Given the description of an element on the screen output the (x, y) to click on. 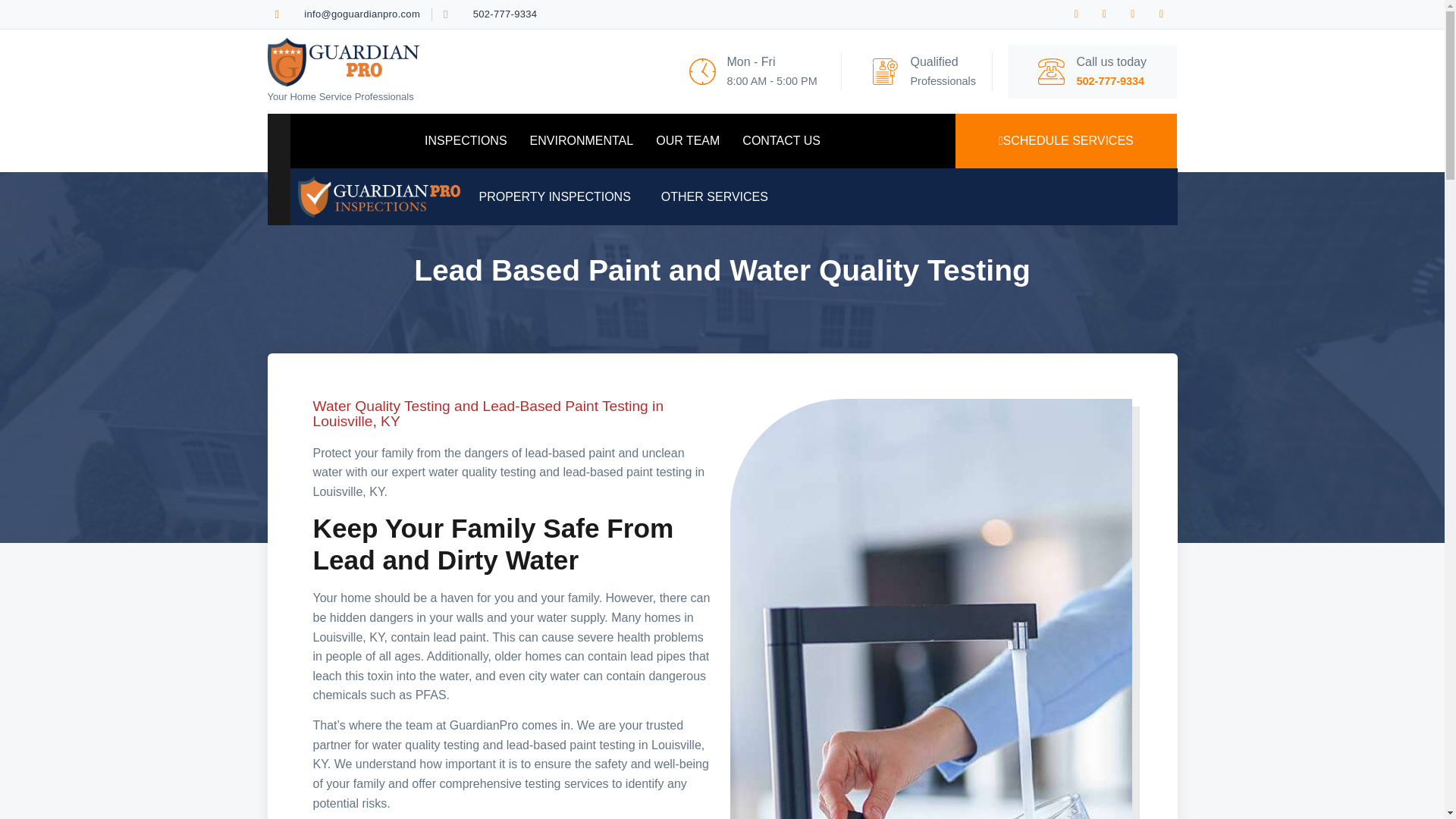
Qualified (934, 61)
PROPERTY INSPECTIONS (558, 196)
ENVIRONMENTAL (581, 140)
OTHER SERVICES (718, 196)
OUR TEAM (687, 140)
Mon - Fri (750, 61)
502-777-9334 (490, 14)
SCHEDULE SERVICES (1065, 140)
INSPECTIONS (465, 140)
